Given the description of an element on the screen output the (x, y) to click on. 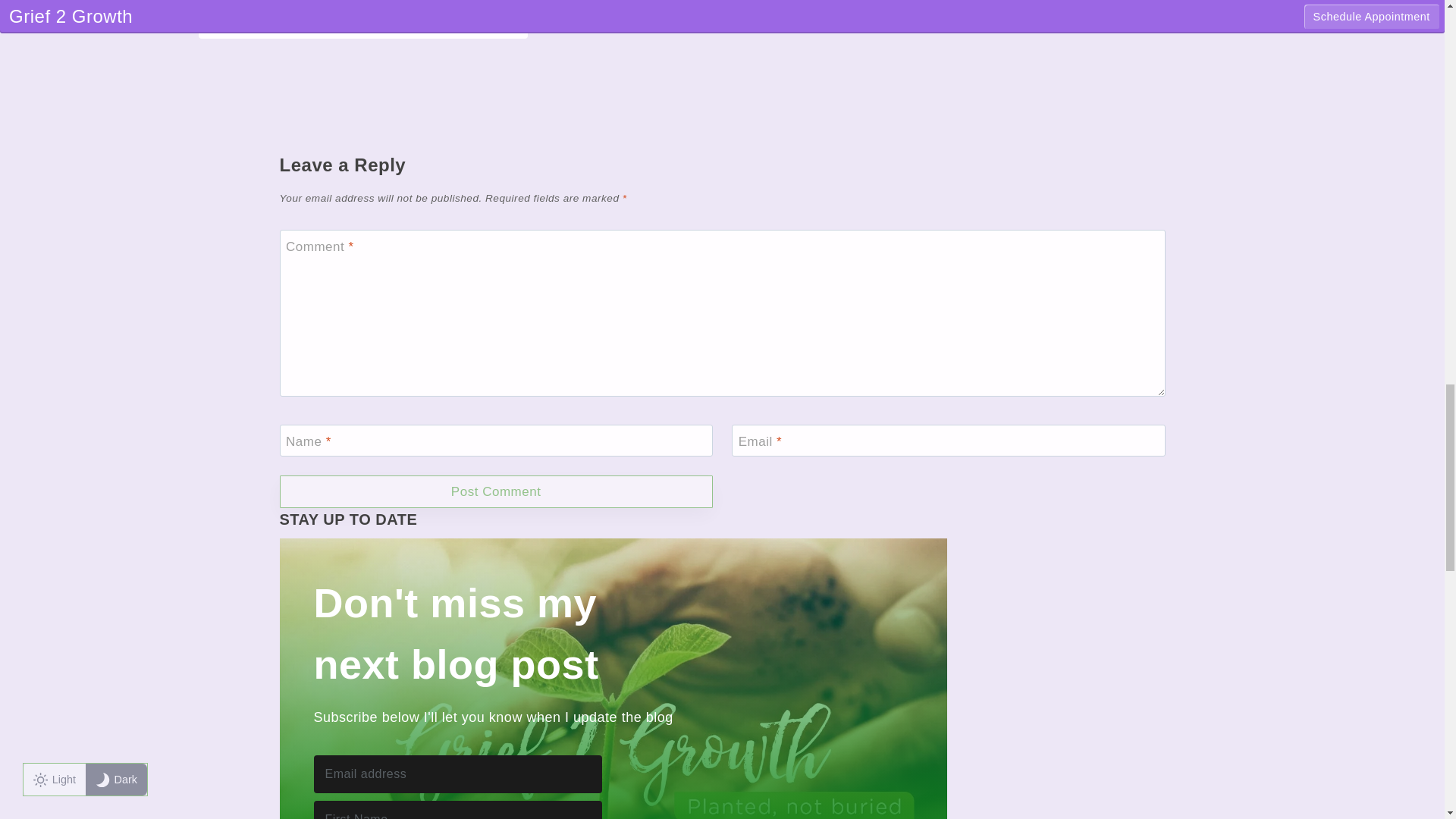
Post Comment (495, 491)
